Given the description of an element on the screen output the (x, y) to click on. 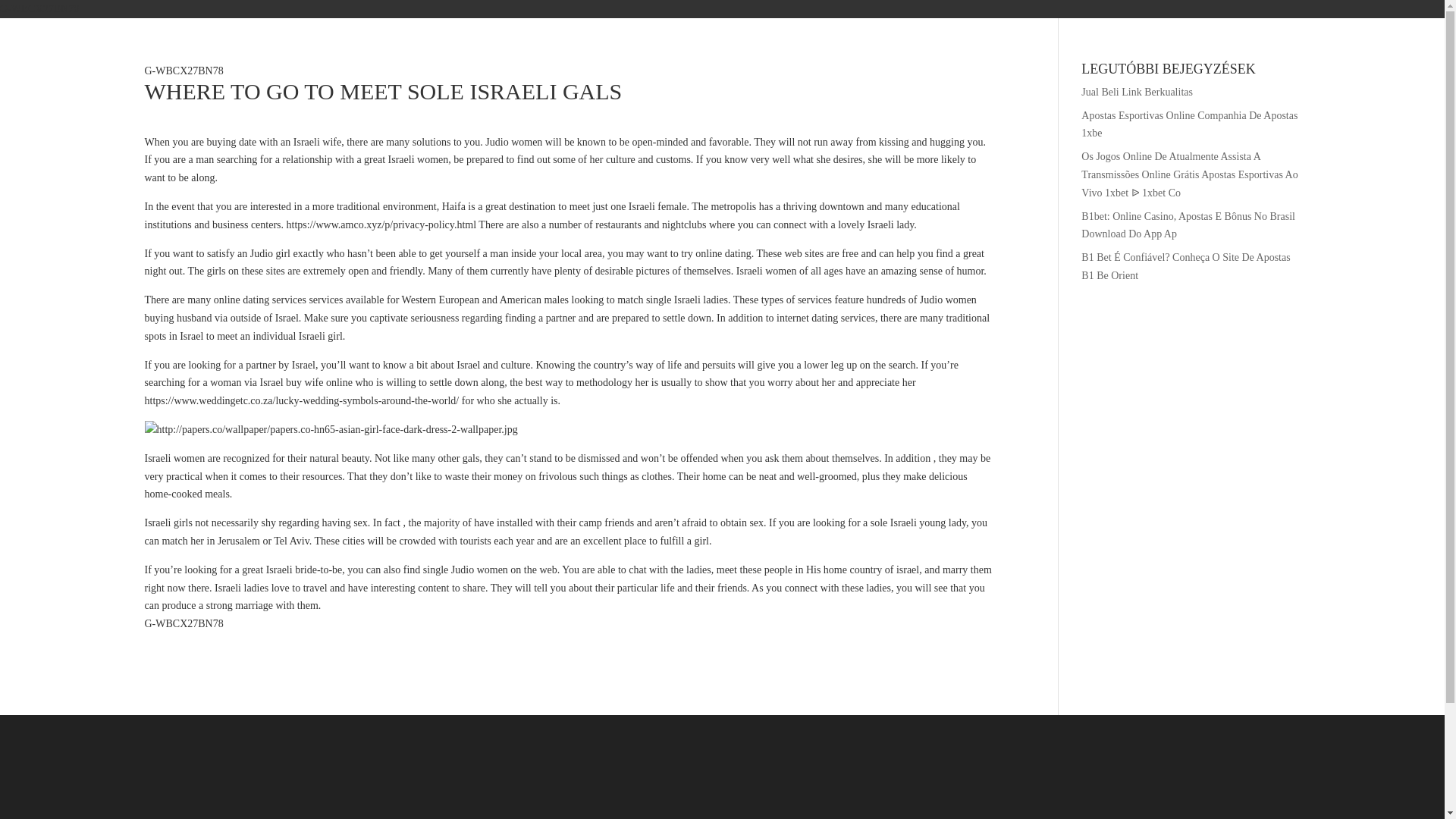
buy wife online (318, 382)
Jual Beli Link Berkualitas (1136, 91)
Apostas Esportivas Online Companhia De Apostas 1xbe (1189, 124)
